Given the description of an element on the screen output the (x, y) to click on. 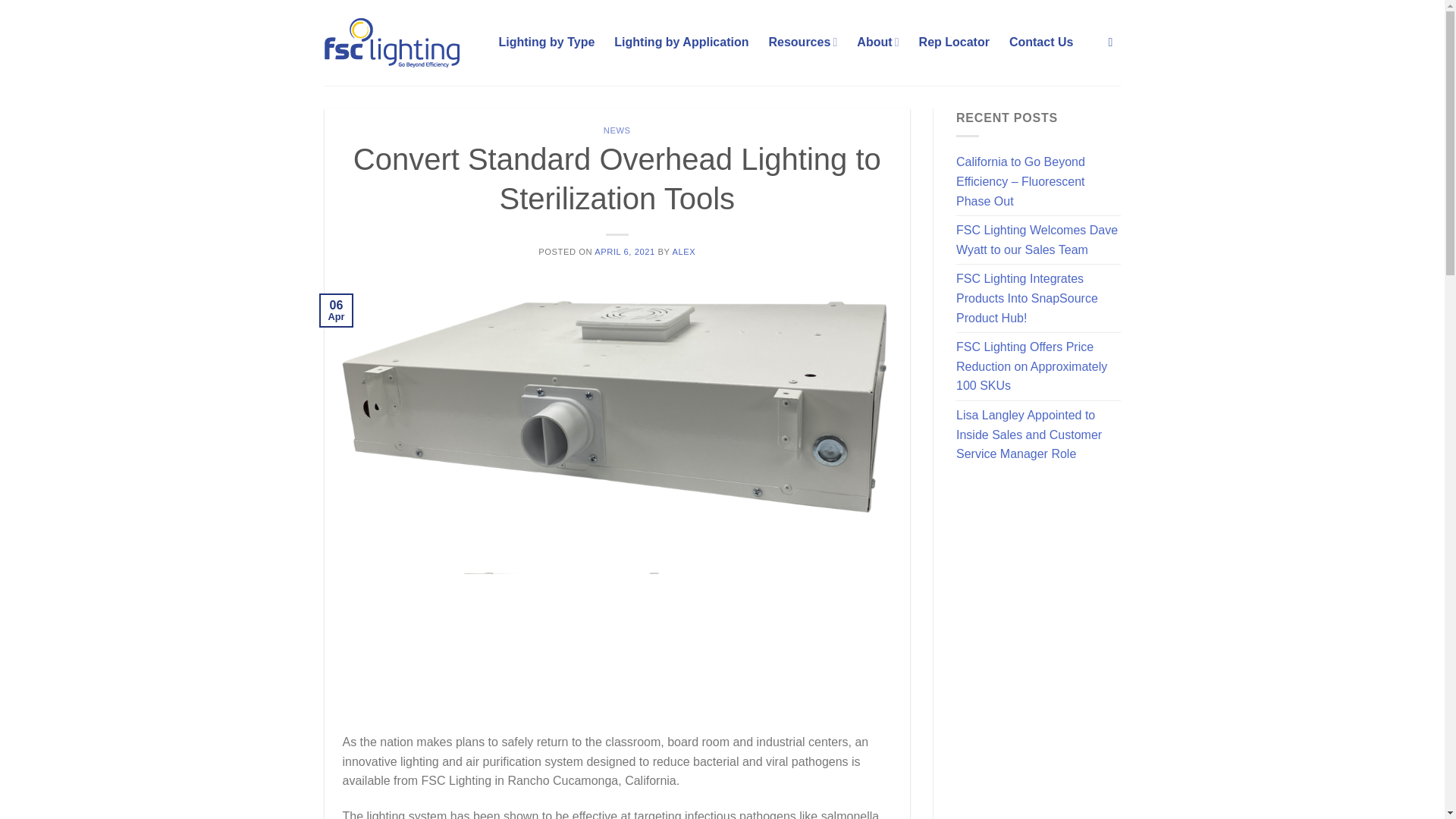
Contact Us (1041, 42)
Rep Locator (954, 42)
About (877, 41)
FSC Lighting - Go Beyond Efficiency (400, 42)
APRIL 6, 2021 (624, 251)
Lighting by Application (681, 42)
Resources (802, 41)
ALEX (683, 251)
Lighting by Type (547, 42)
NEWS (617, 130)
